Given the description of an element on the screen output the (x, y) to click on. 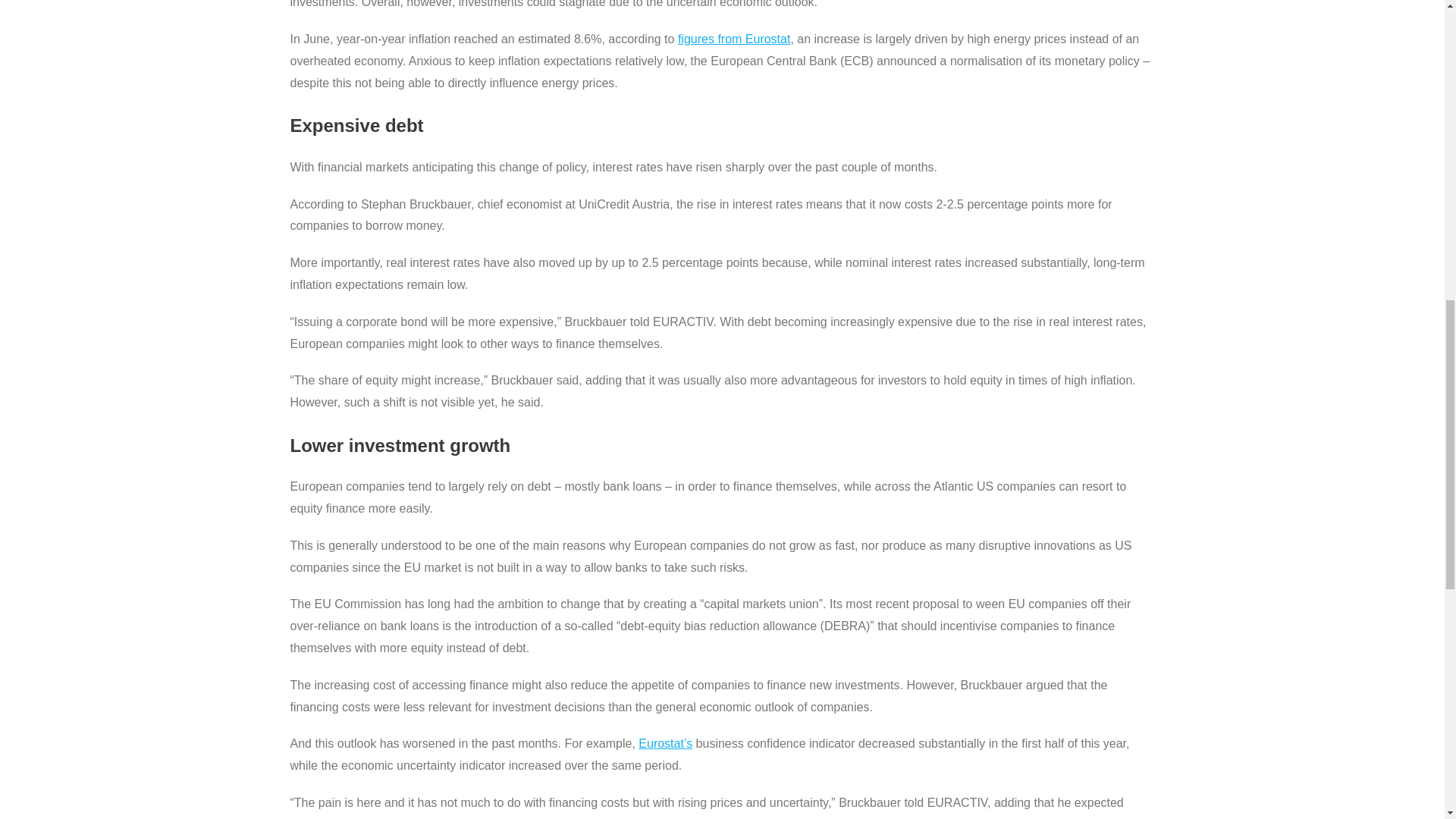
figures from Eurostat (734, 38)
